Given the description of an element on the screen output the (x, y) to click on. 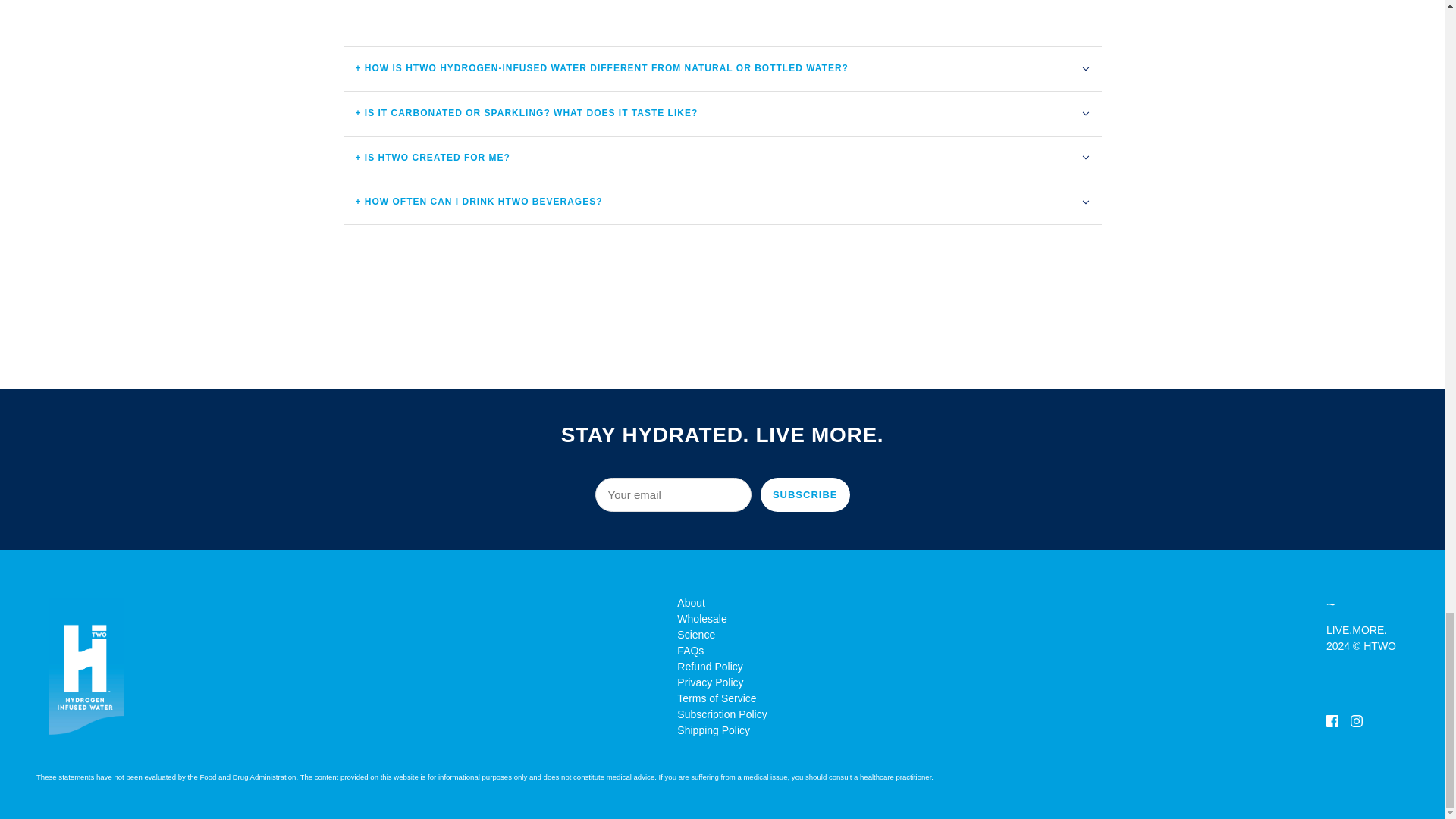
FAQs (690, 650)
Shipping Policy (713, 729)
Subscription Policy (722, 714)
Wholesale (701, 618)
Privacy Policy (709, 682)
About (690, 603)
Science (695, 634)
Terms of Service (716, 698)
Refund Policy (709, 666)
